Given the description of an element on the screen output the (x, y) to click on. 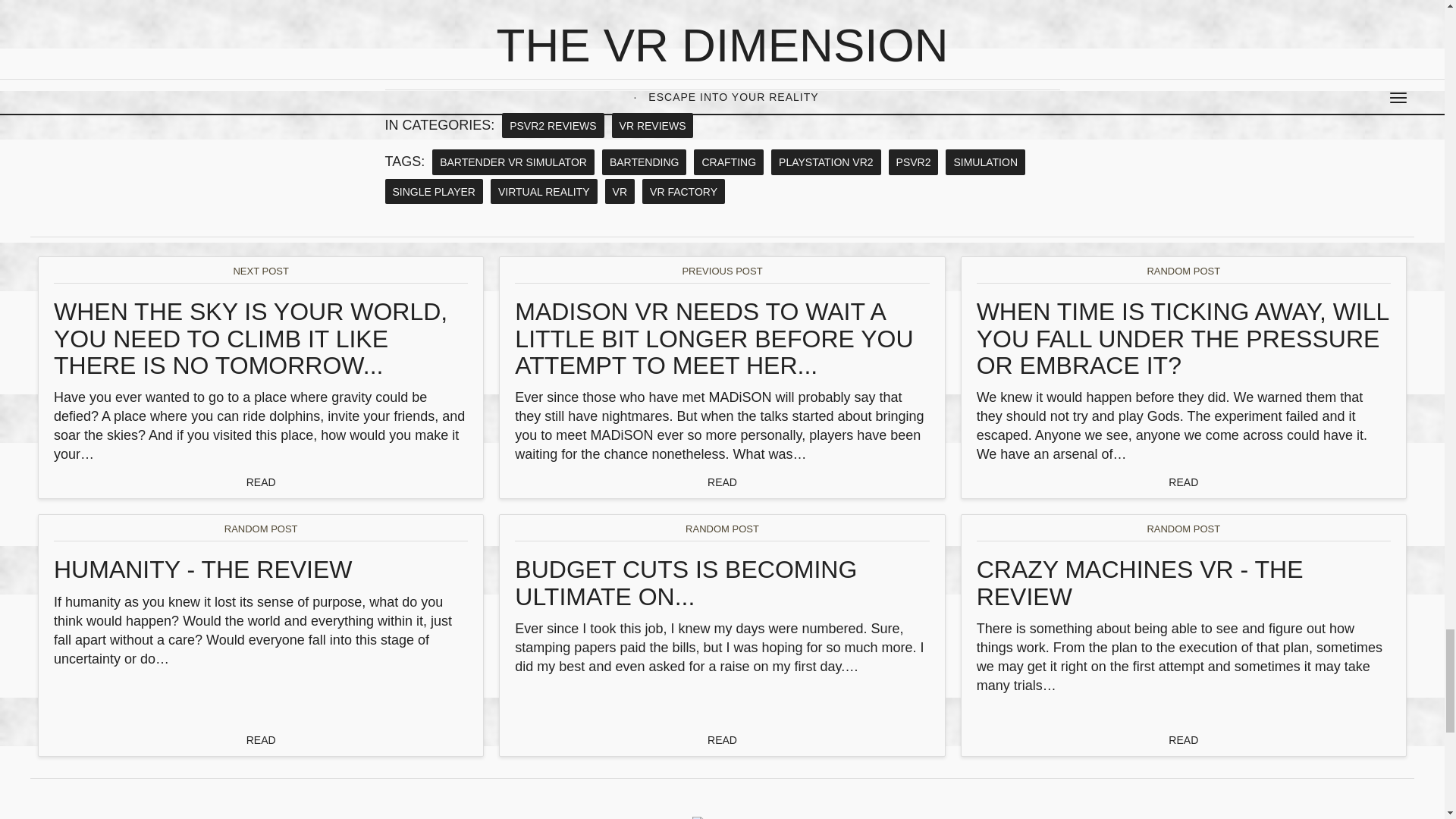
Bartender VR Simulator PlayStation PSVR2 Trailer (574, 29)
CRAFTING (728, 161)
BARTENDER VR SIMULATOR (513, 161)
VR REVIEWS (652, 125)
BARTENDING (644, 161)
PSVR2 REVIEWS (553, 125)
